Given the description of an element on the screen output the (x, y) to click on. 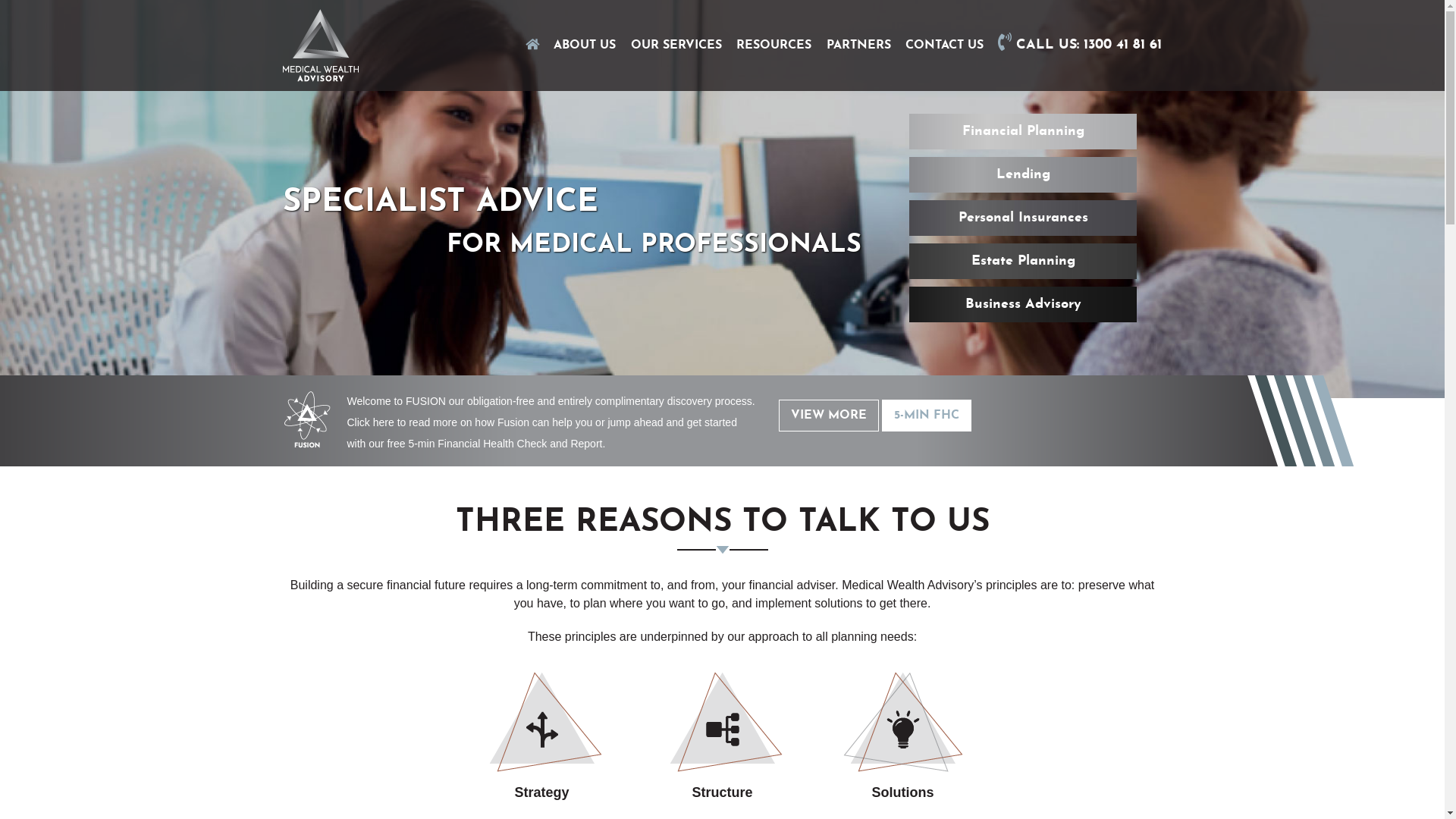
CONTACT US Element type: text (944, 45)
ABOUT US Element type: text (584, 45)
RESOURCES Element type: text (773, 45)
VIEW MORE Element type: text (828, 414)
CALL US: 1300 41 81 61 Element type: text (1079, 45)
PARTNERS Element type: text (858, 45)
Business Advisory Element type: text (1022, 304)
Estate Planning Element type: text (1022, 261)
5-MIN FHC Element type: text (926, 414)
Personal Insurances Element type: text (1022, 217)
Financial Planning Element type: text (1022, 131)
Lending Element type: text (1022, 174)
OUR SERVICES Element type: text (675, 45)
